Given the description of an element on the screen output the (x, y) to click on. 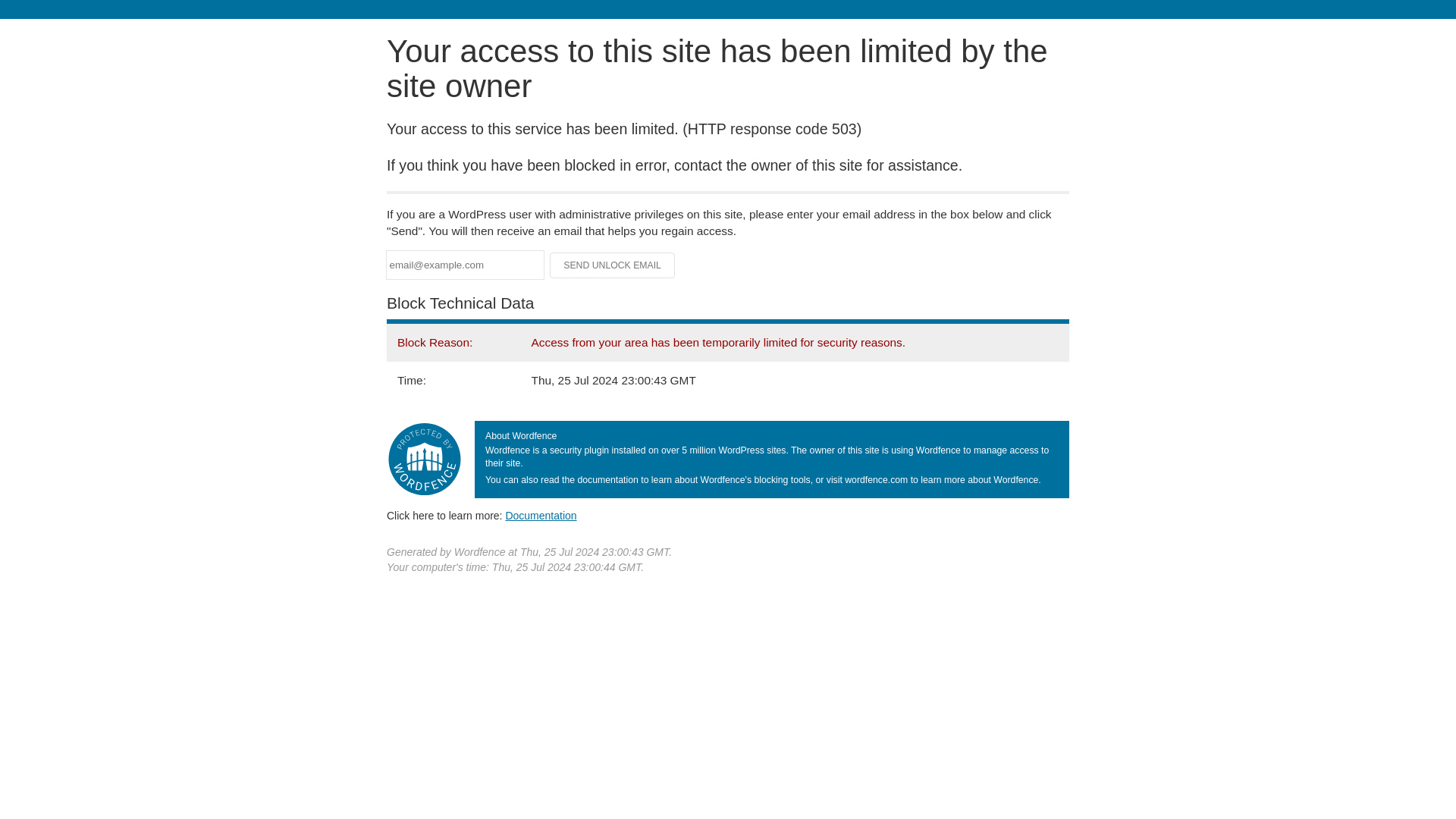
Send Unlock Email (612, 265)
Documentation (540, 515)
Send Unlock Email (612, 265)
